Given the description of an element on the screen output the (x, y) to click on. 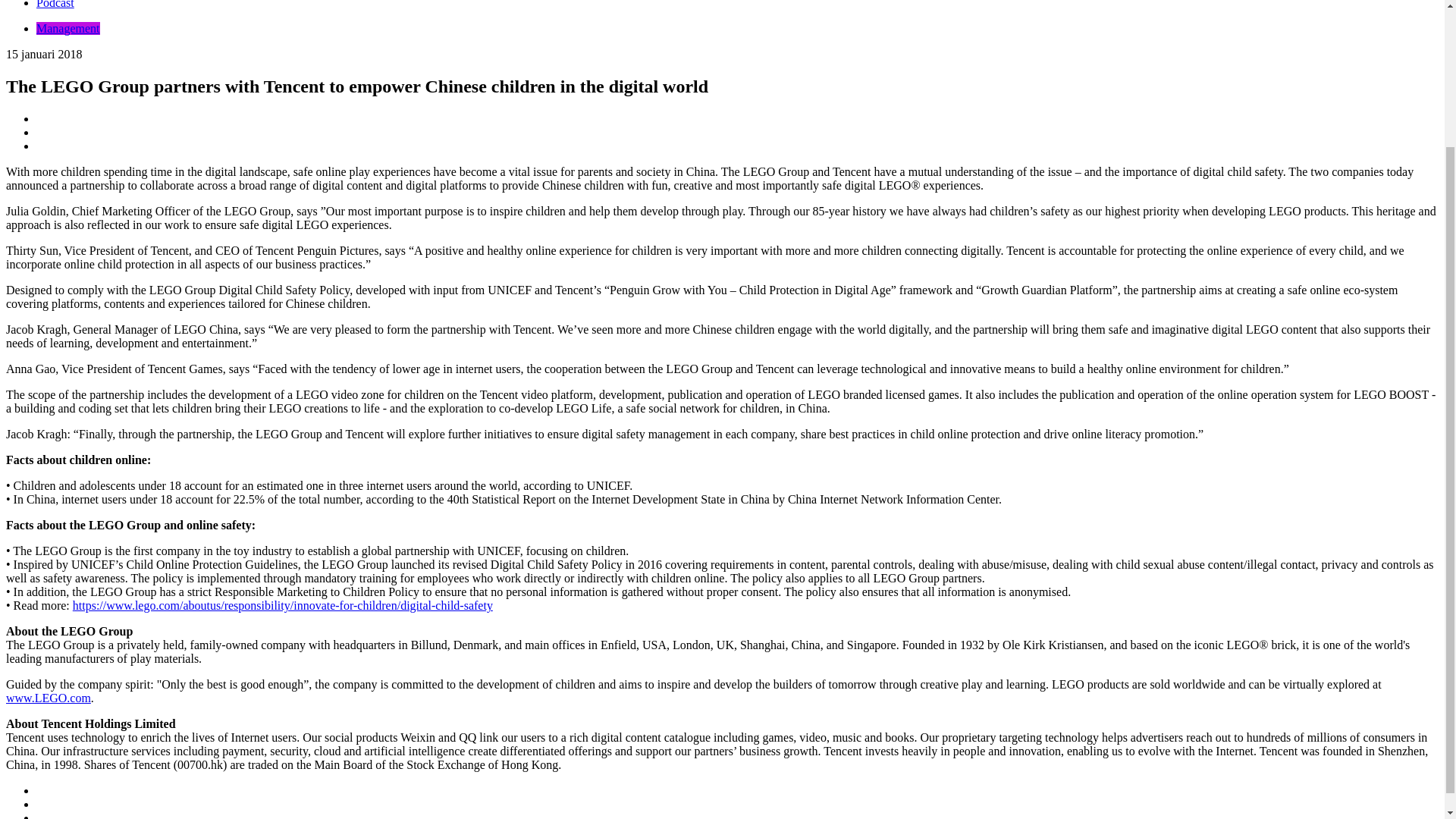
Podcast (55, 4)
Management (68, 28)
www.LEGO.com (47, 697)
